Given the description of an element on the screen output the (x, y) to click on. 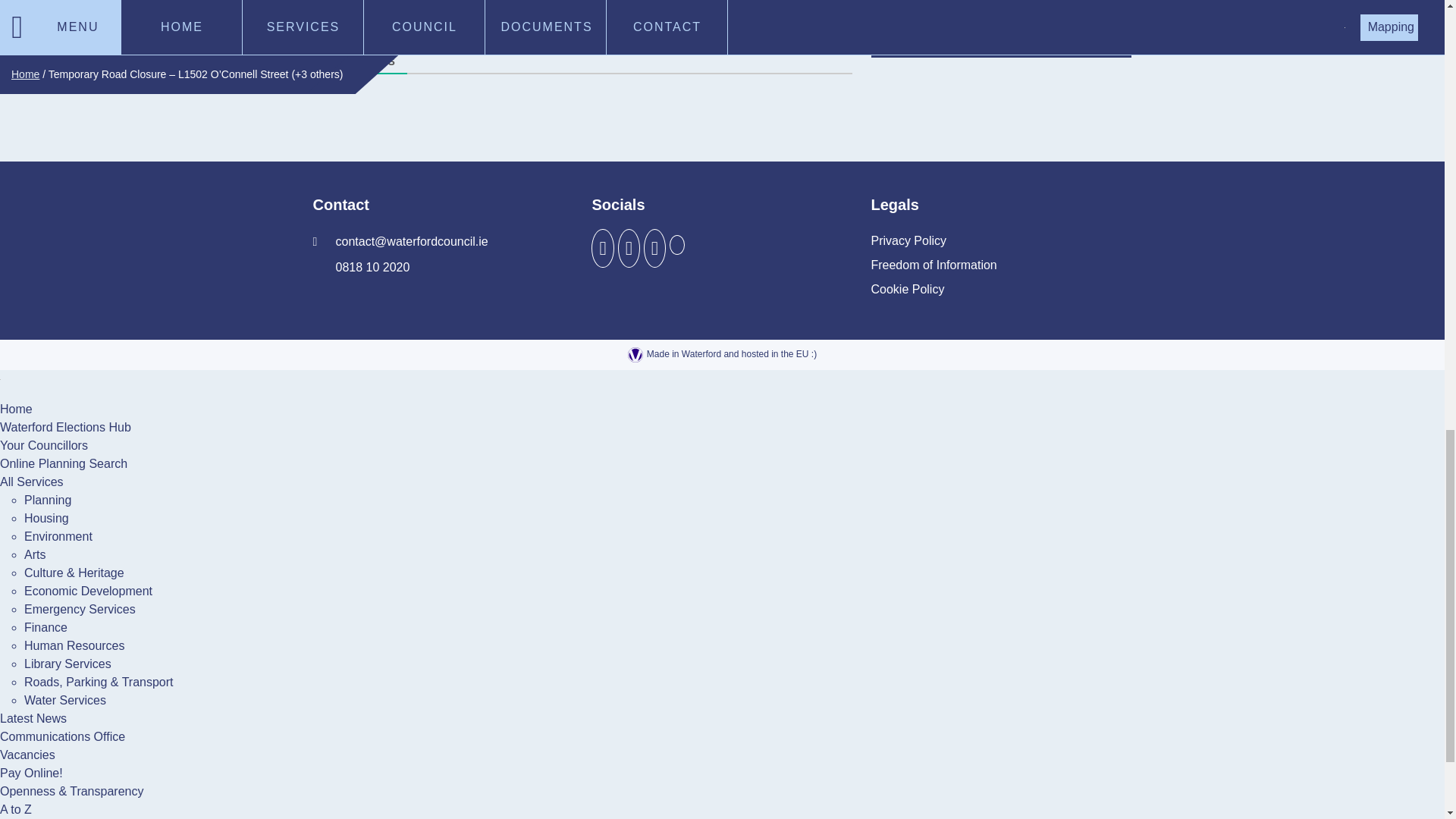
Cookie Policy (906, 289)
Freedom of Information (932, 265)
Privacy Policy (908, 241)
0818 10 2020 (361, 267)
